Given the description of an element on the screen output the (x, y) to click on. 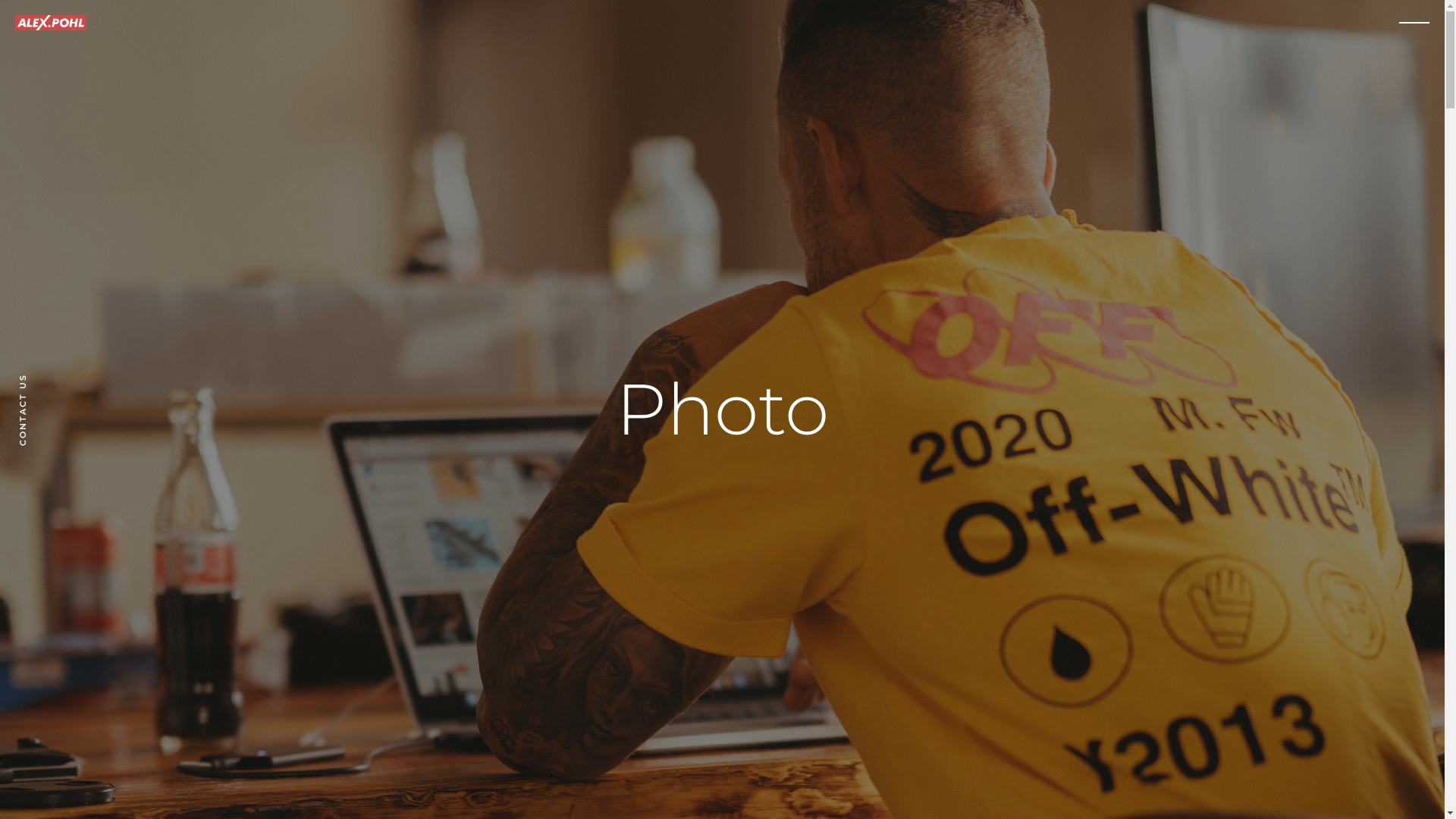
kontakt@alexpohl-photography.com Element type: text (322, 514)
PHOTO Element type: text (1200, 302)
+41 76 34 14 505 Element type: text (1181, 514)
CONTACT US Element type: text (51, 380)
Alex Pohl Agency
Blohweg 1
26215 Wiefelstede
Deutschland Element type: text (721, 538)
CONTACT Element type: text (1191, 363)
VIDEO Element type: text (1202, 322)
ABOUT Element type: text (1200, 282)
IMPRINT Element type: text (1195, 383)
ALEX POHL AGENCY Element type: text (1152, 343)
DATENSCHUTZ Element type: text (1172, 403)
HOME Element type: text (1204, 262)
